Given the description of an element on the screen output the (x, y) to click on. 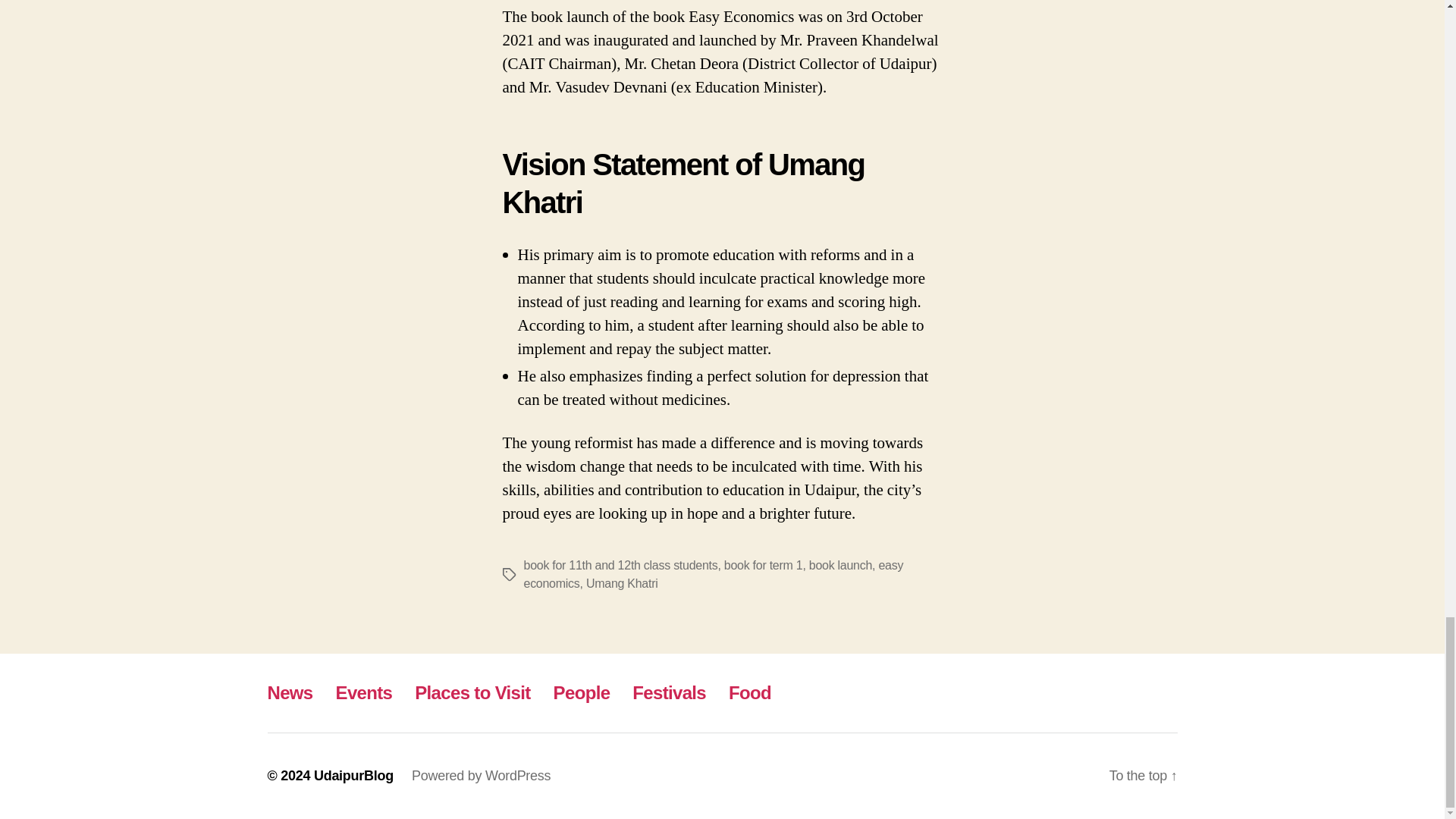
book for term 1 (763, 564)
book launch (840, 564)
easy economics (712, 573)
News (289, 692)
Events (364, 692)
Umang Khatri (622, 583)
book for 11th and 12th class students (619, 564)
